Given the description of an element on the screen output the (x, y) to click on. 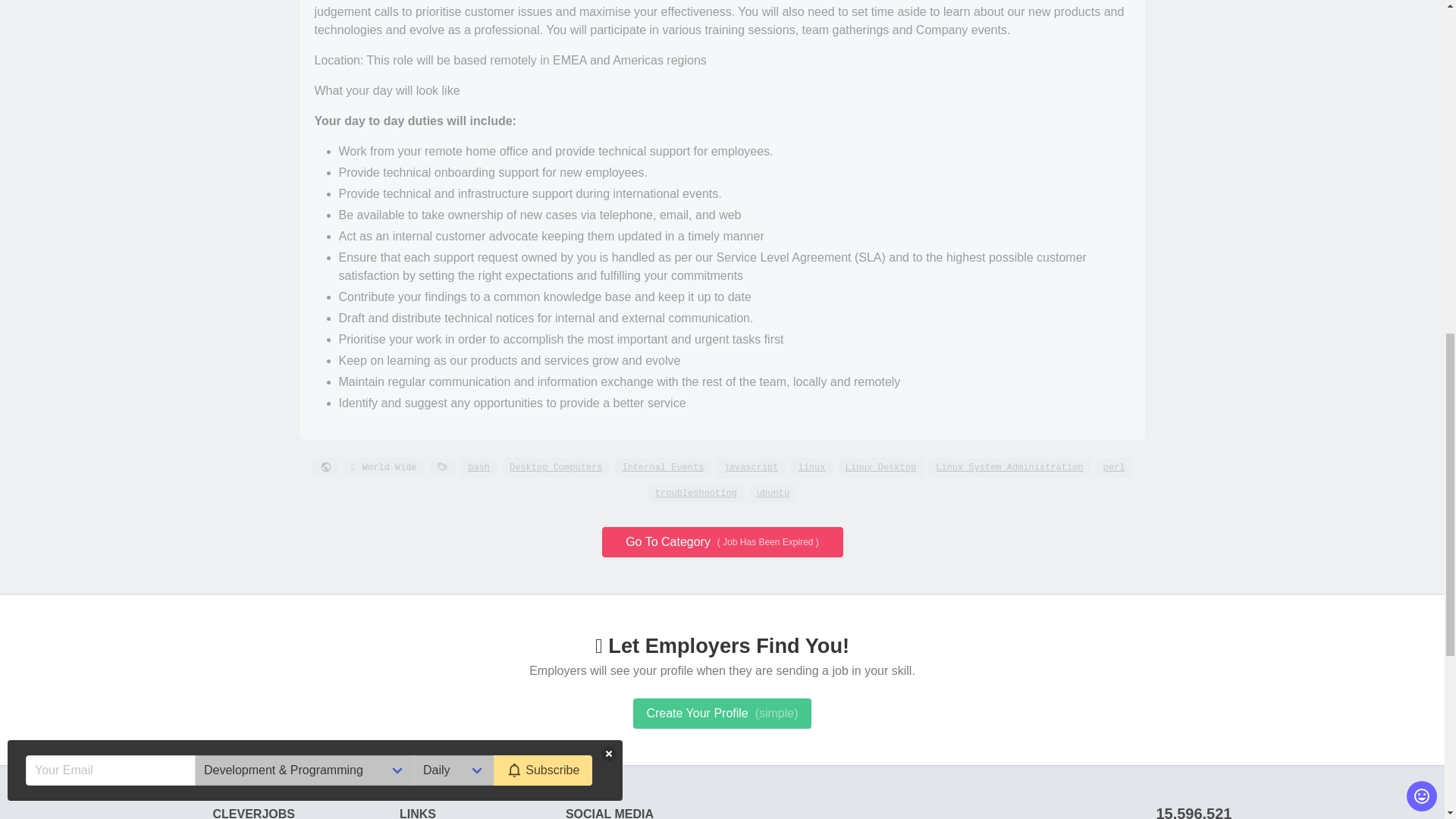
perl (1114, 467)
linux (810, 467)
Linux Desktop (880, 467)
Desktop Computers (555, 467)
Linux System Administration (1008, 467)
Internal Events (662, 467)
javascript (750, 467)
troubleshooting (695, 493)
bash (478, 467)
ubuntu (772, 493)
